Given the description of an element on the screen output the (x, y) to click on. 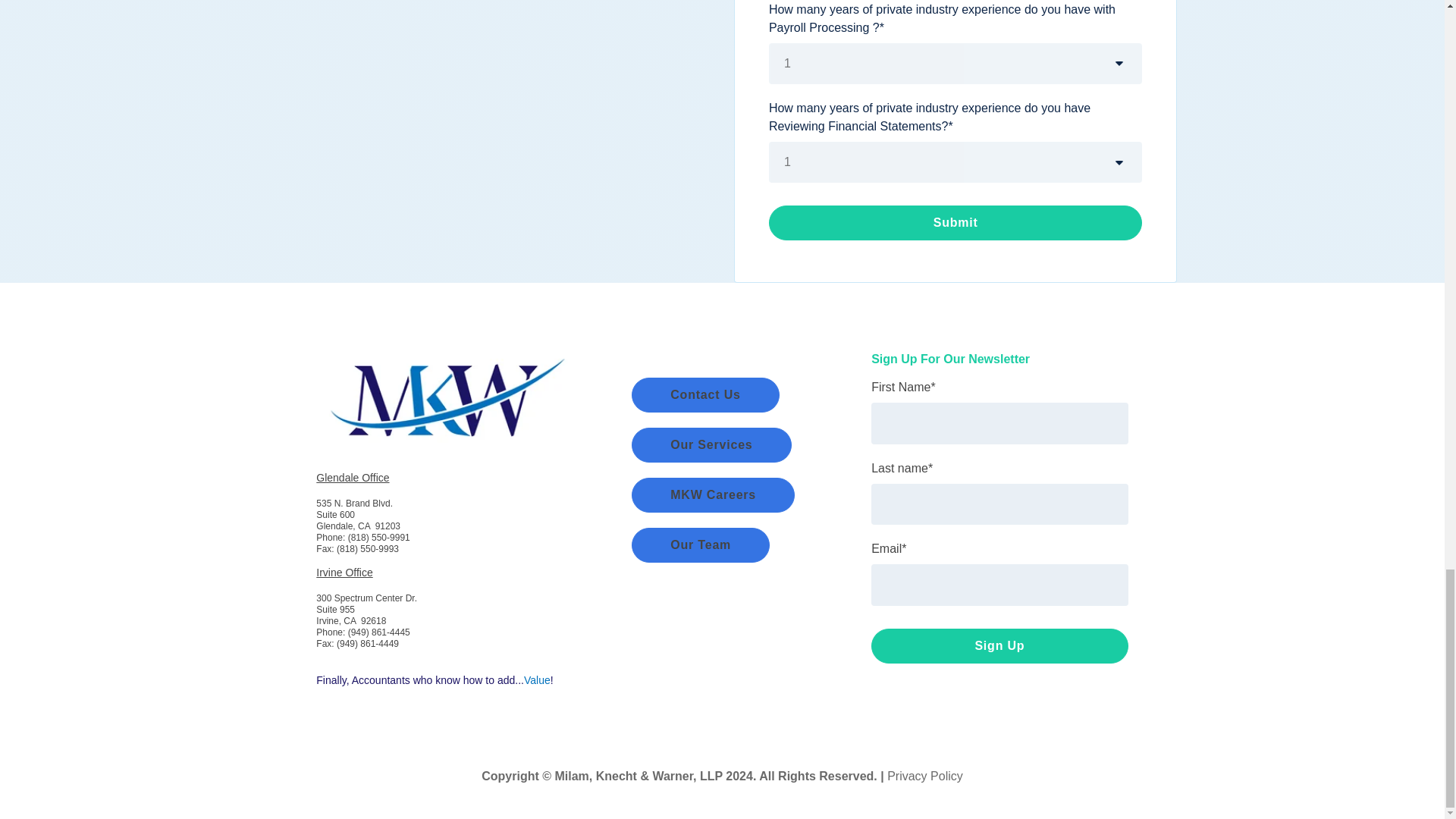
Our Team (700, 544)
Sign Up (999, 645)
Privacy Policy (924, 775)
Our Services (710, 444)
Submit (955, 222)
Submit (955, 222)
MKW Careers (712, 494)
MKW 3.2 MKW only (444, 393)
Contact Us (704, 394)
Sign Up (999, 645)
